Given the description of an element on the screen output the (x, y) to click on. 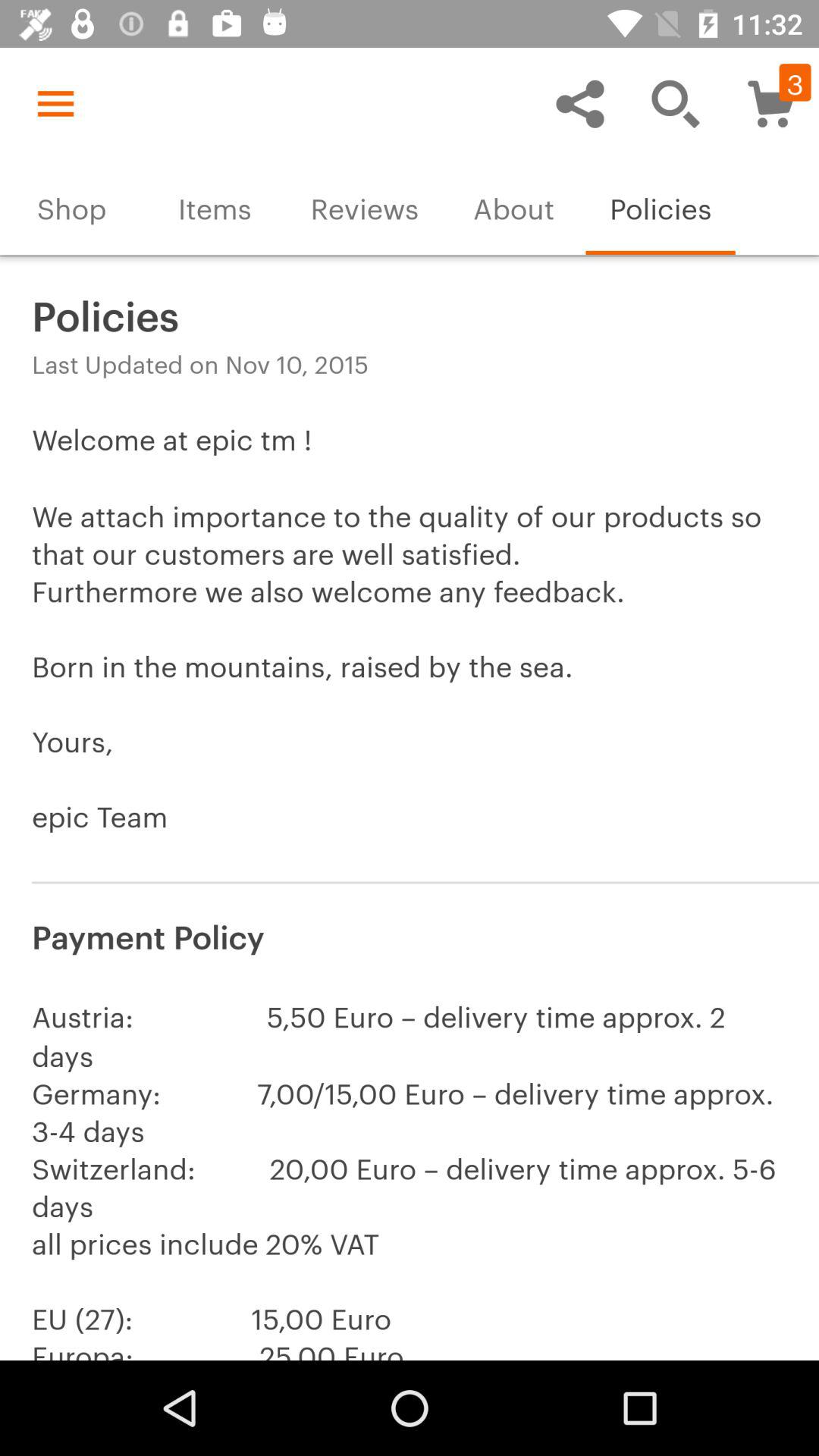
press the item above shop item (55, 103)
